Given the description of an element on the screen output the (x, y) to click on. 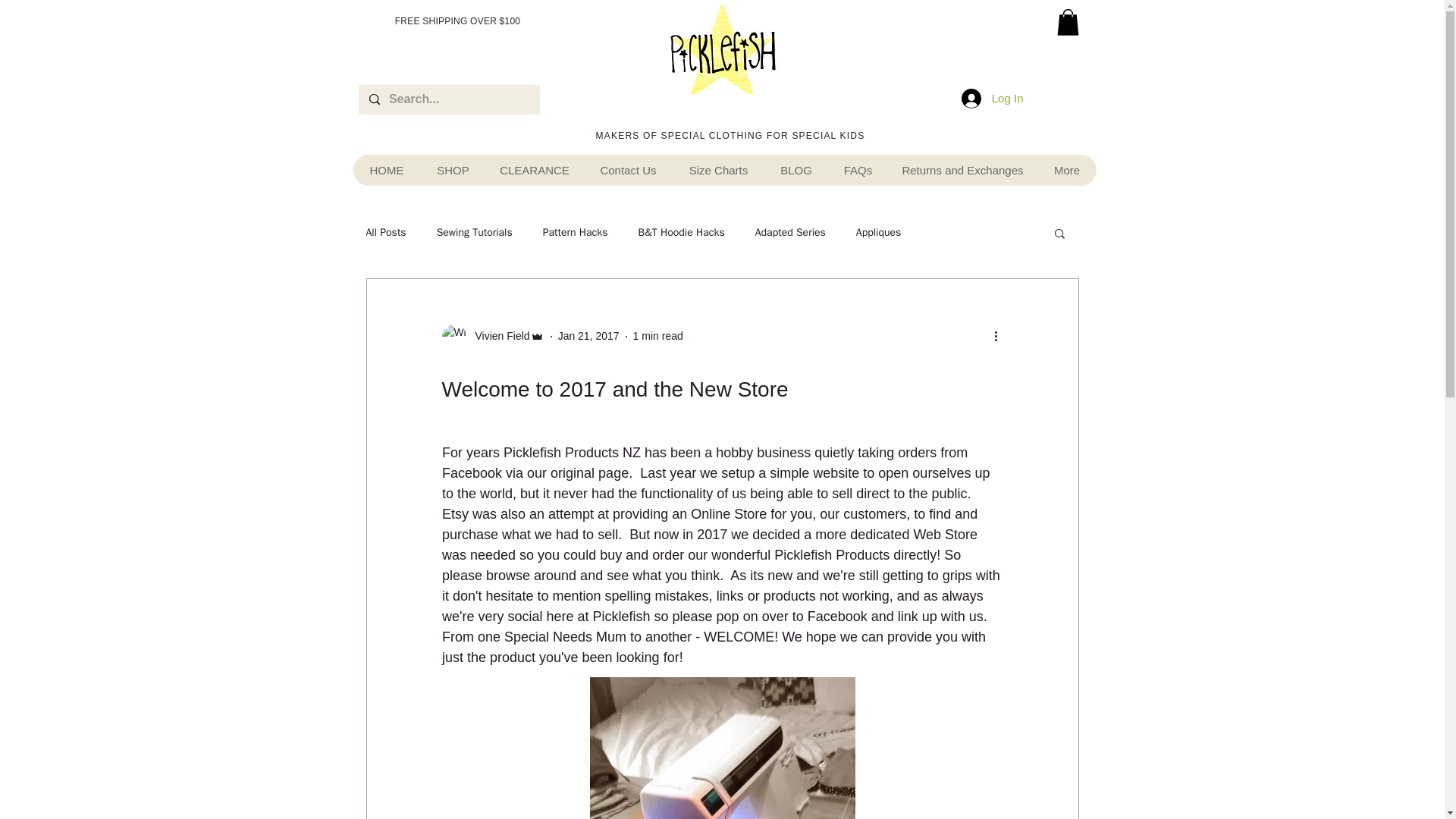
HOME (386, 169)
FAQs (858, 169)
Log In (991, 98)
Contact Us (627, 169)
Returns and Exchanges (961, 169)
Pattern Hacks (575, 232)
Vivien Field (497, 335)
Jan 21, 2017 (588, 336)
Adapted Series (790, 232)
Vivien Field (492, 336)
